Given the description of an element on the screen output the (x, y) to click on. 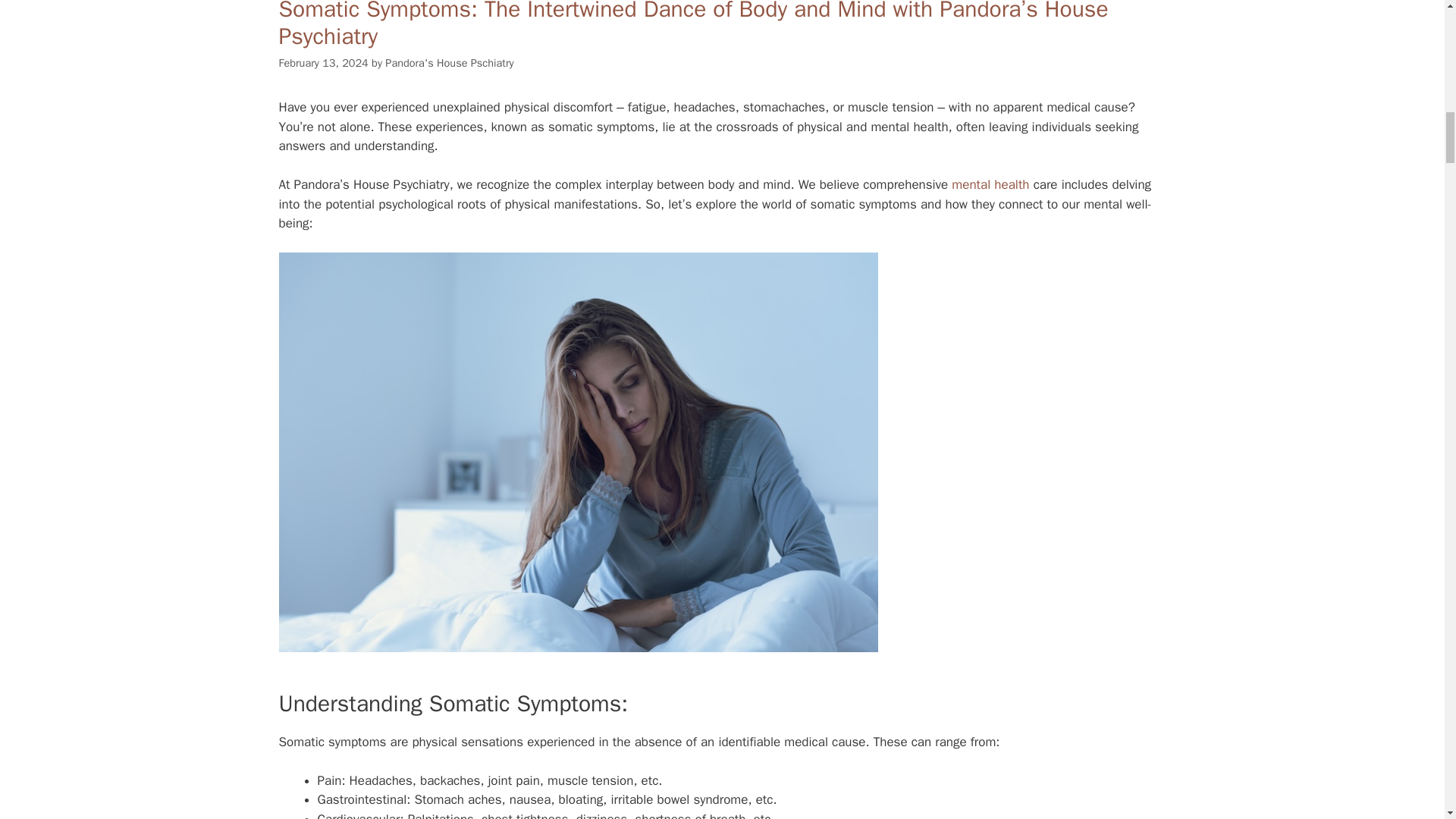
February 13, 2024 (323, 62)
mental health (990, 184)
Pandora's House Pschiatry (449, 62)
7:49 pm (323, 62)
View all posts by Pandora's House Pschiatry (449, 62)
